Given the description of an element on the screen output the (x, y) to click on. 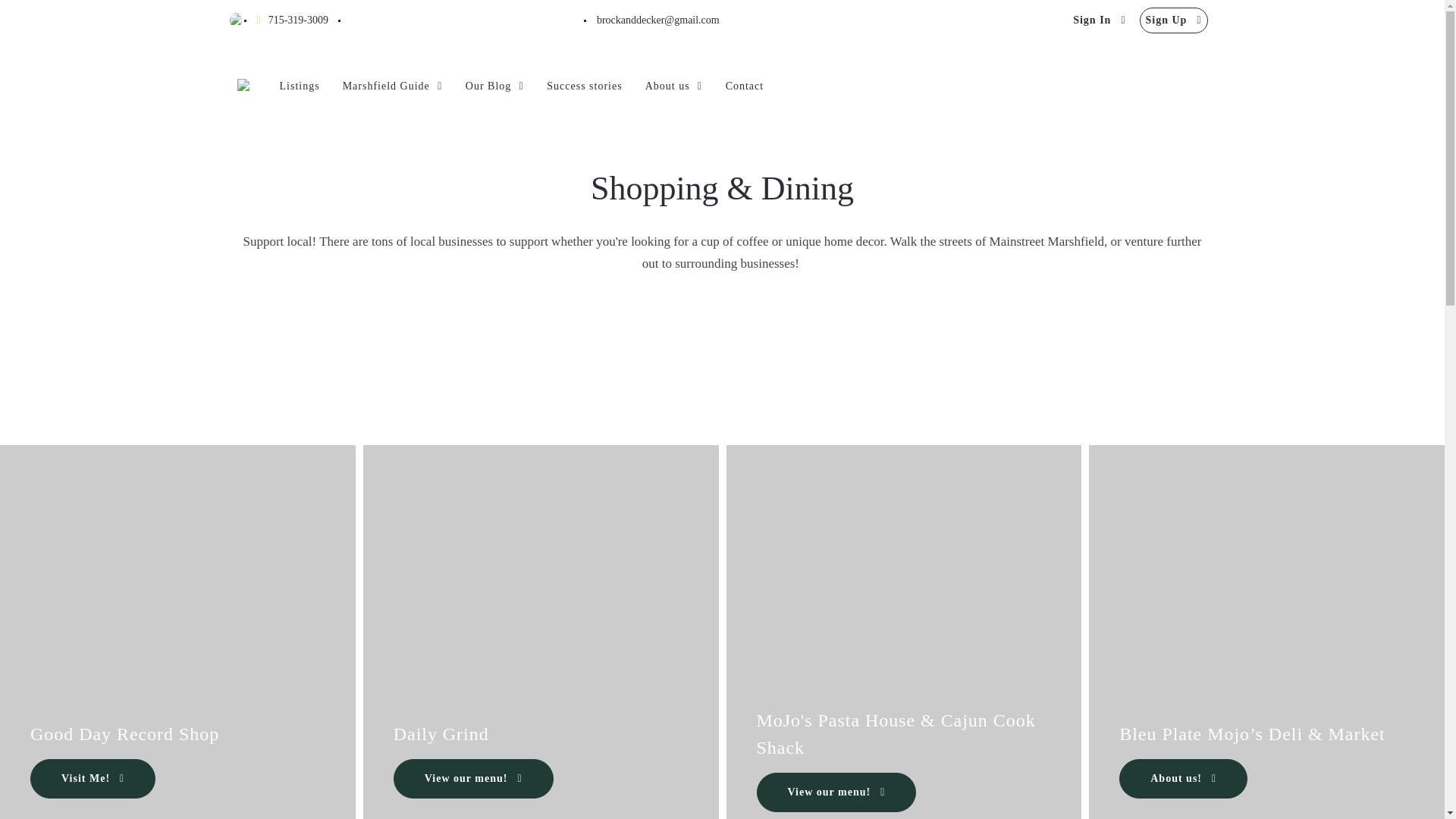
Our Blog (494, 86)
Listings (298, 86)
715-319-3009 (291, 19)
Sign Up (1174, 20)
Sign In (1099, 20)
Marshfield Guide (392, 86)
